Given the description of an element on the screen output the (x, y) to click on. 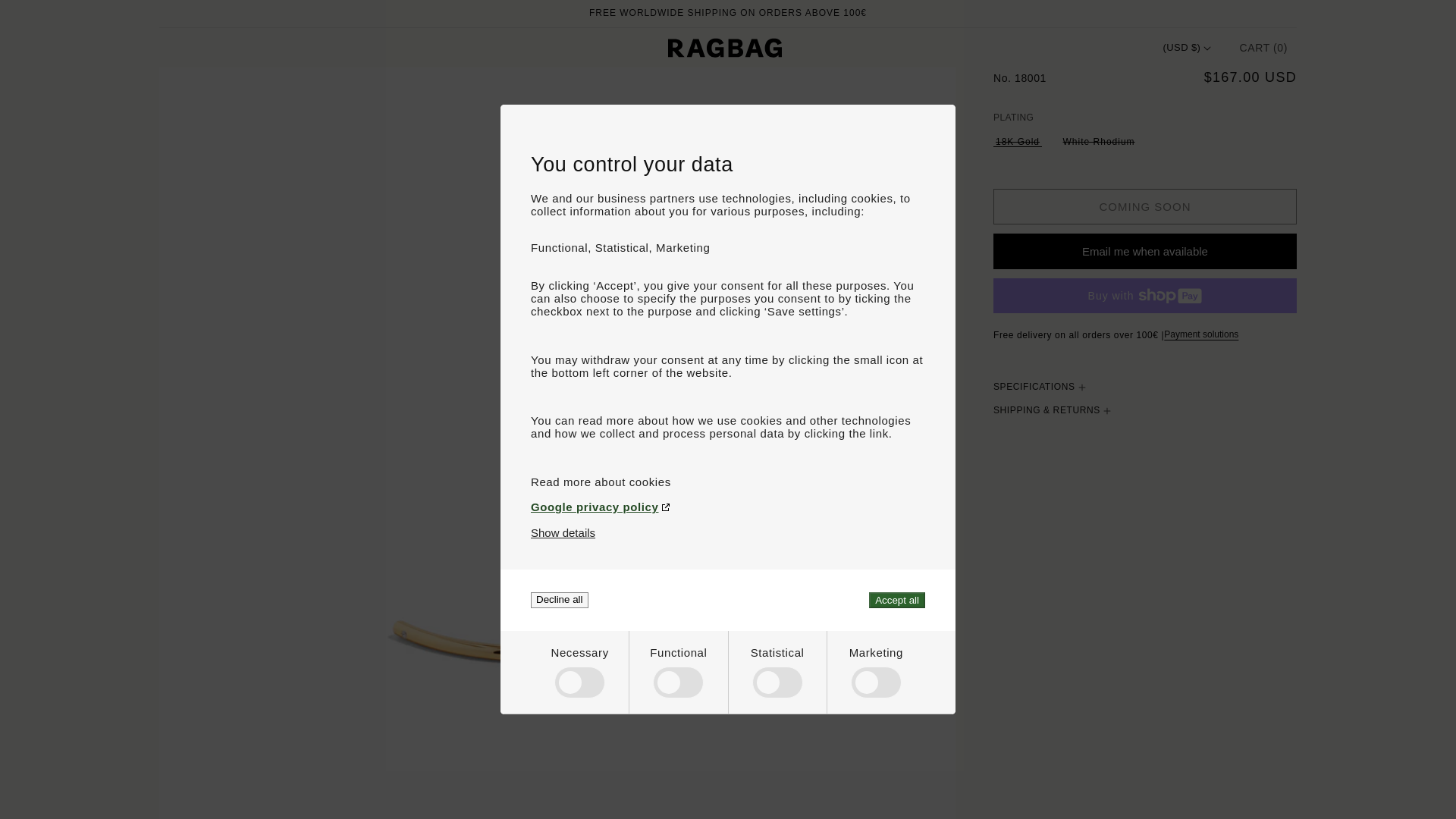
Google privacy policy (727, 506)
Read more about cookies (727, 481)
Show details (563, 532)
